Given the description of an element on the screen output the (x, y) to click on. 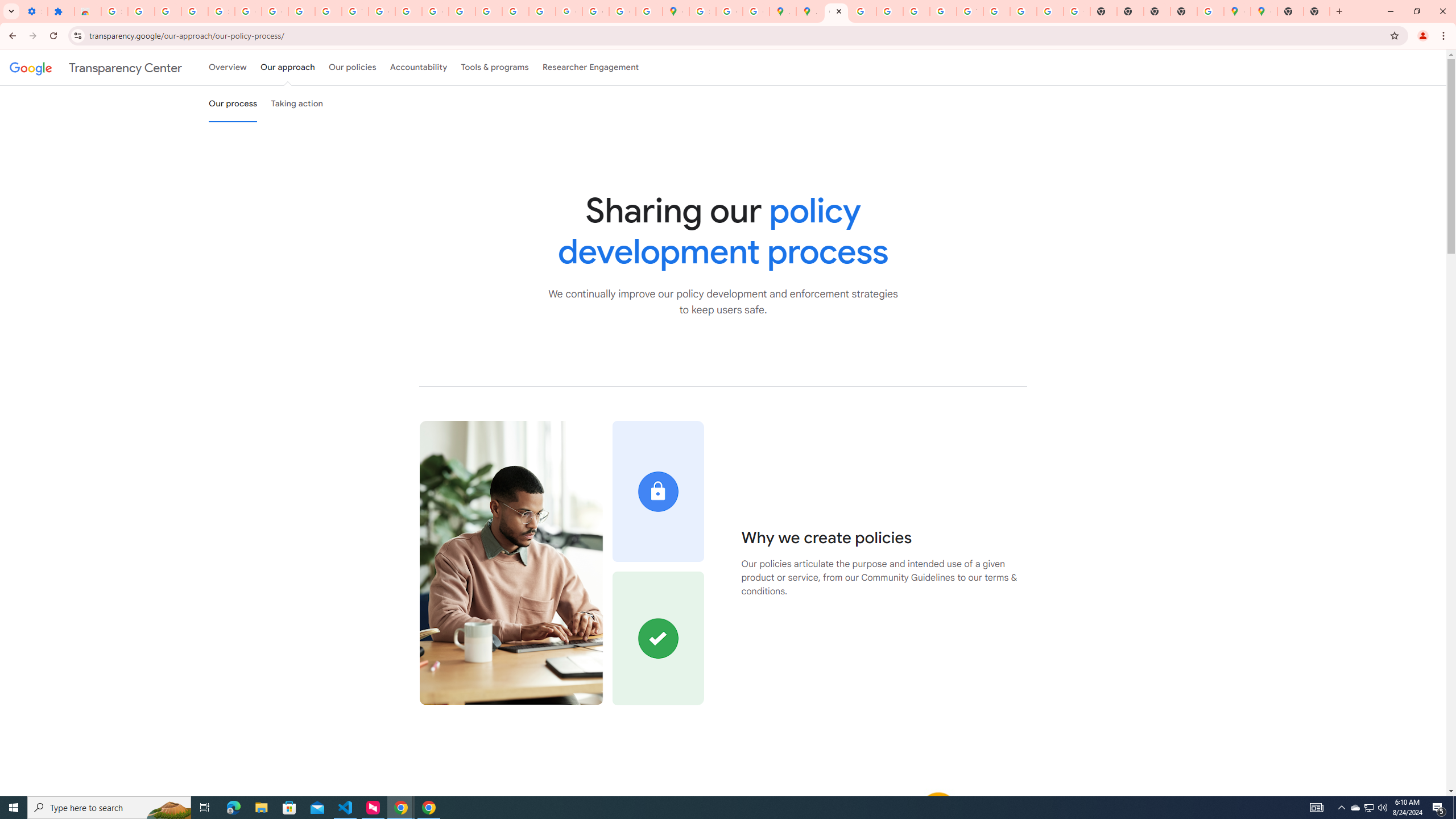
YouTube (355, 11)
Learn how to find your photos - Google Photos Help (167, 11)
Sign in - Google Accounts (114, 11)
Create your Google Account (729, 11)
Google Maps (676, 11)
Sign in - Google Accounts (702, 11)
